Given the description of an element on the screen output the (x, y) to click on. 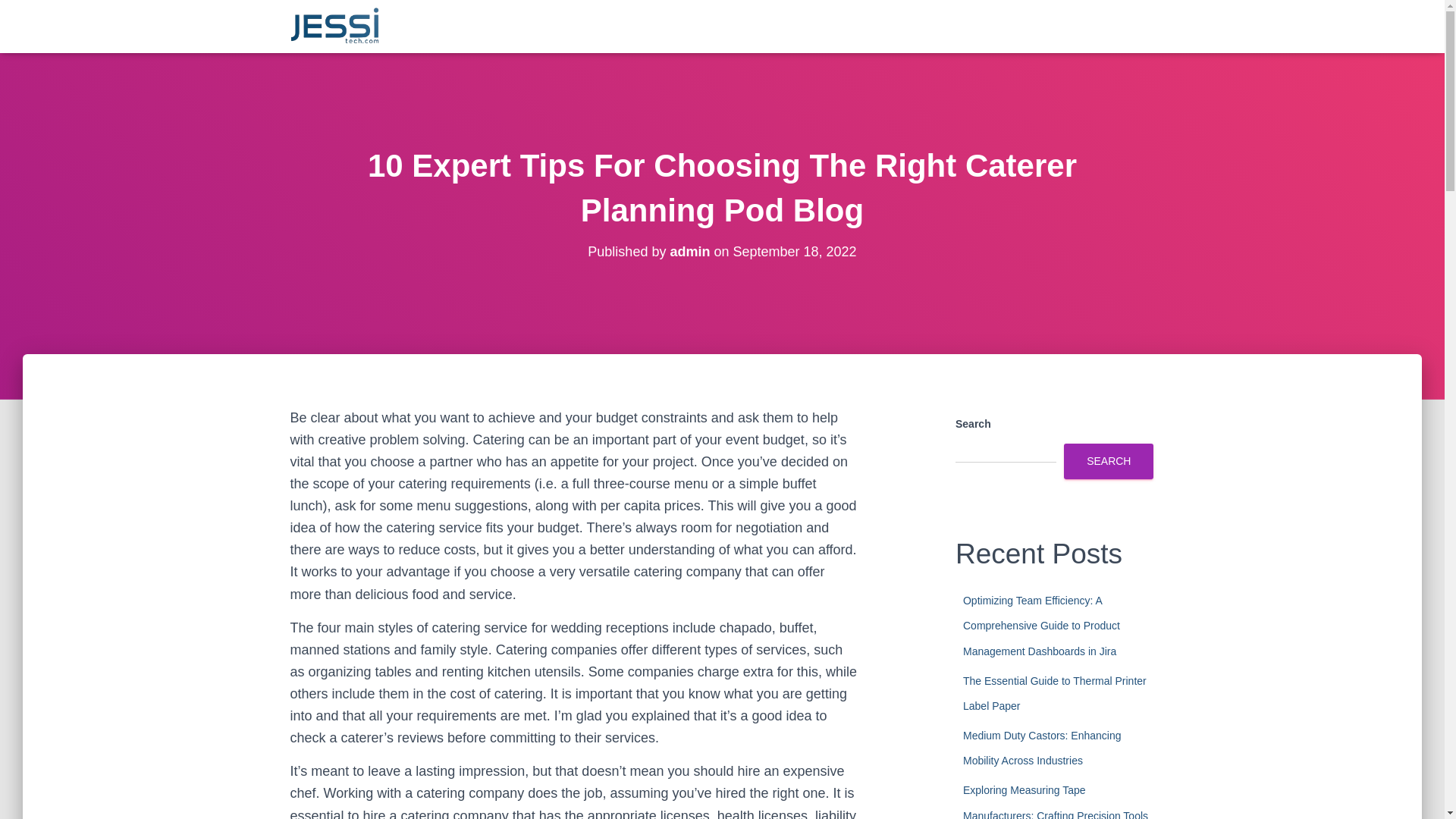
The Essential Guide to Thermal Printer Label Paper (1054, 693)
Medium Duty Castors: Enhancing Mobility Across Industries (1041, 748)
admin (689, 251)
SEARCH (1108, 461)
